Given the description of an element on the screen output the (x, y) to click on. 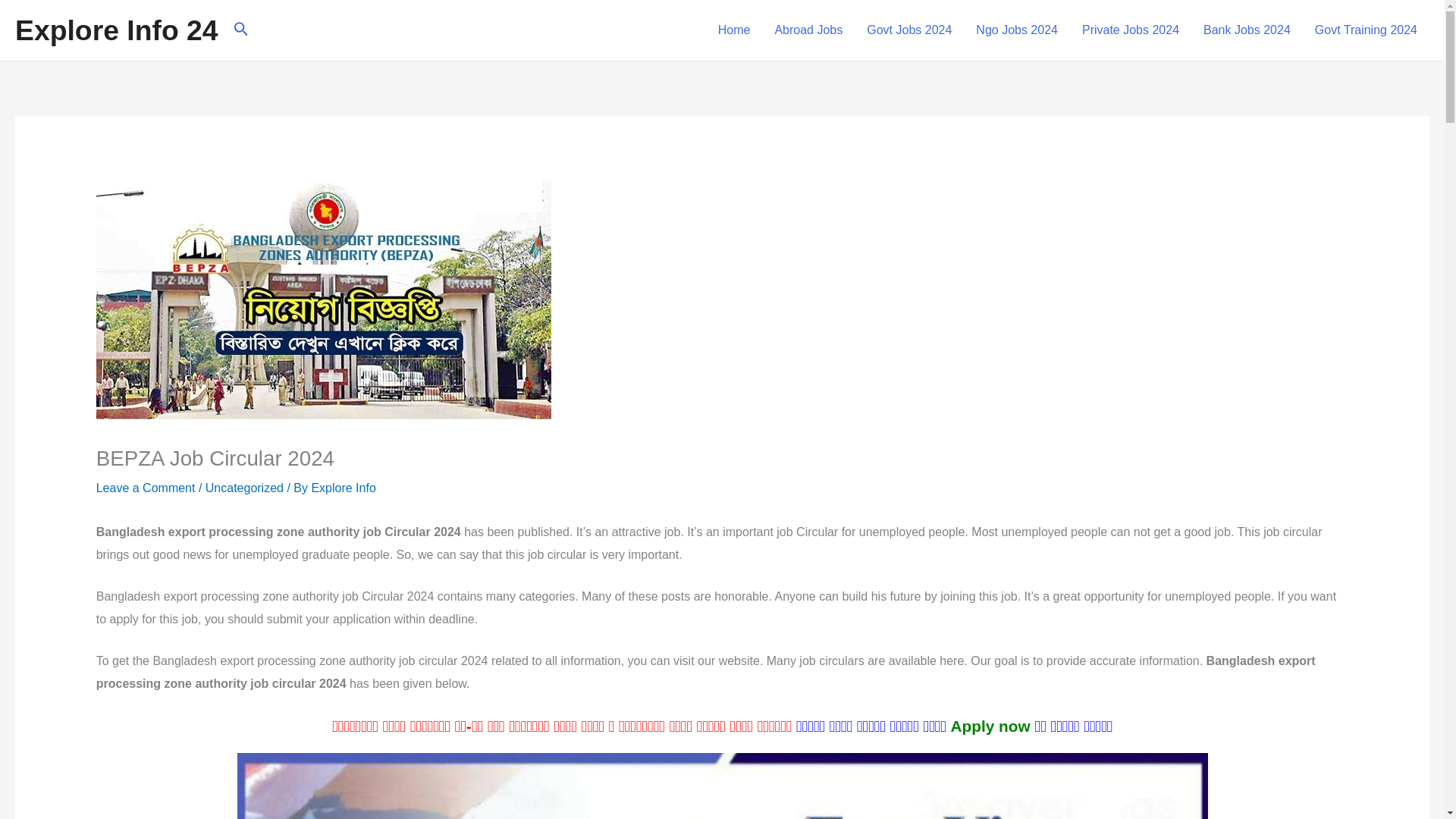
Bank Jobs 2024 (1247, 30)
View all posts by Explore Info (343, 487)
Private Jobs 2024 (1130, 30)
Uncategorized (244, 487)
Abroad Jobs (807, 30)
Explore Info (343, 487)
Home (734, 30)
Govt Training 2024 (1366, 30)
Govt Jobs 2024 (908, 30)
Leave a Comment (145, 487)
Ngo Jobs 2024 (1016, 30)
Explore Info 24 (116, 29)
